Given the description of an element on the screen output the (x, y) to click on. 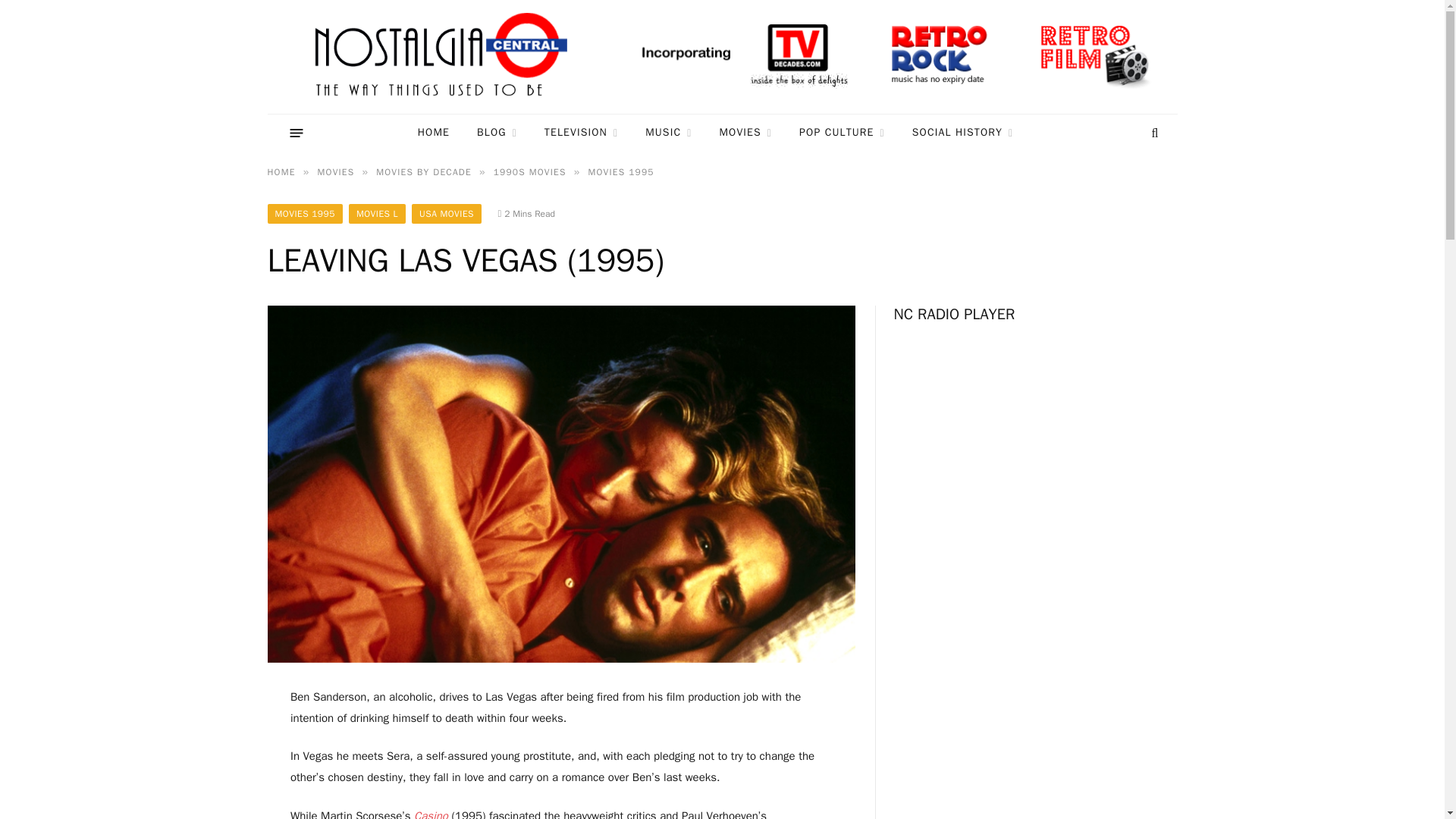
HOME (433, 132)
BLOG (497, 132)
Nostalgia Central (444, 56)
TELEVISION (581, 132)
